Given the description of an element on the screen output the (x, y) to click on. 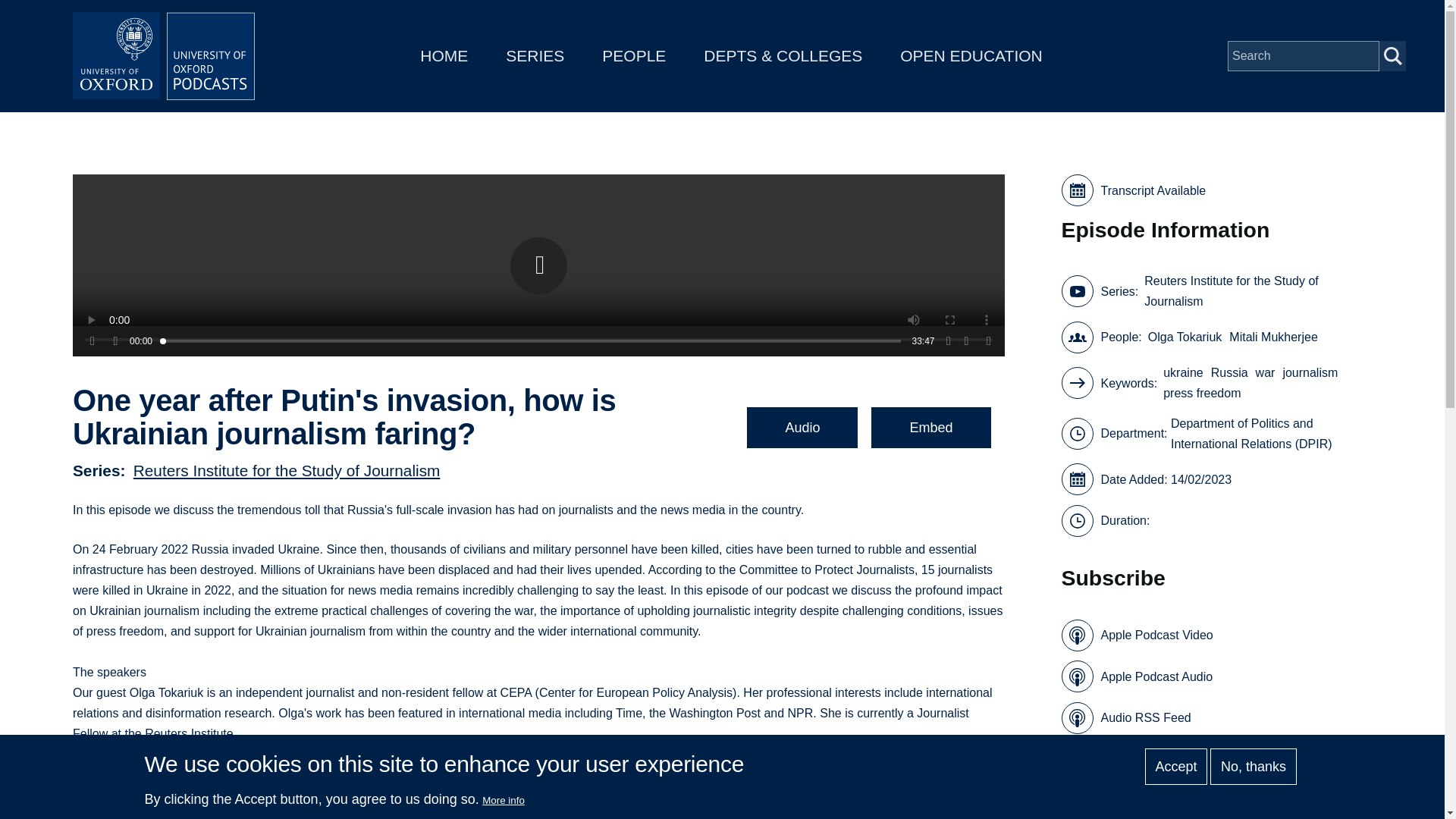
ukraine (1182, 372)
Transcript Available (1217, 190)
Mitali Mukherjee (1272, 336)
Apple Podcast Video (1136, 635)
journalism (1310, 372)
Audio RSS Feed (1126, 717)
HOME (443, 55)
PEOPLE (633, 55)
press freedom (1201, 393)
Olga Tokariuk (1185, 336)
OPEN EDUCATION (970, 55)
Reuters Institute for the Study of Journalism (1254, 291)
Reuters Institute for the Study of Journalism (287, 469)
SERIES (534, 55)
Audio (801, 427)
